Given the description of an element on the screen output the (x, y) to click on. 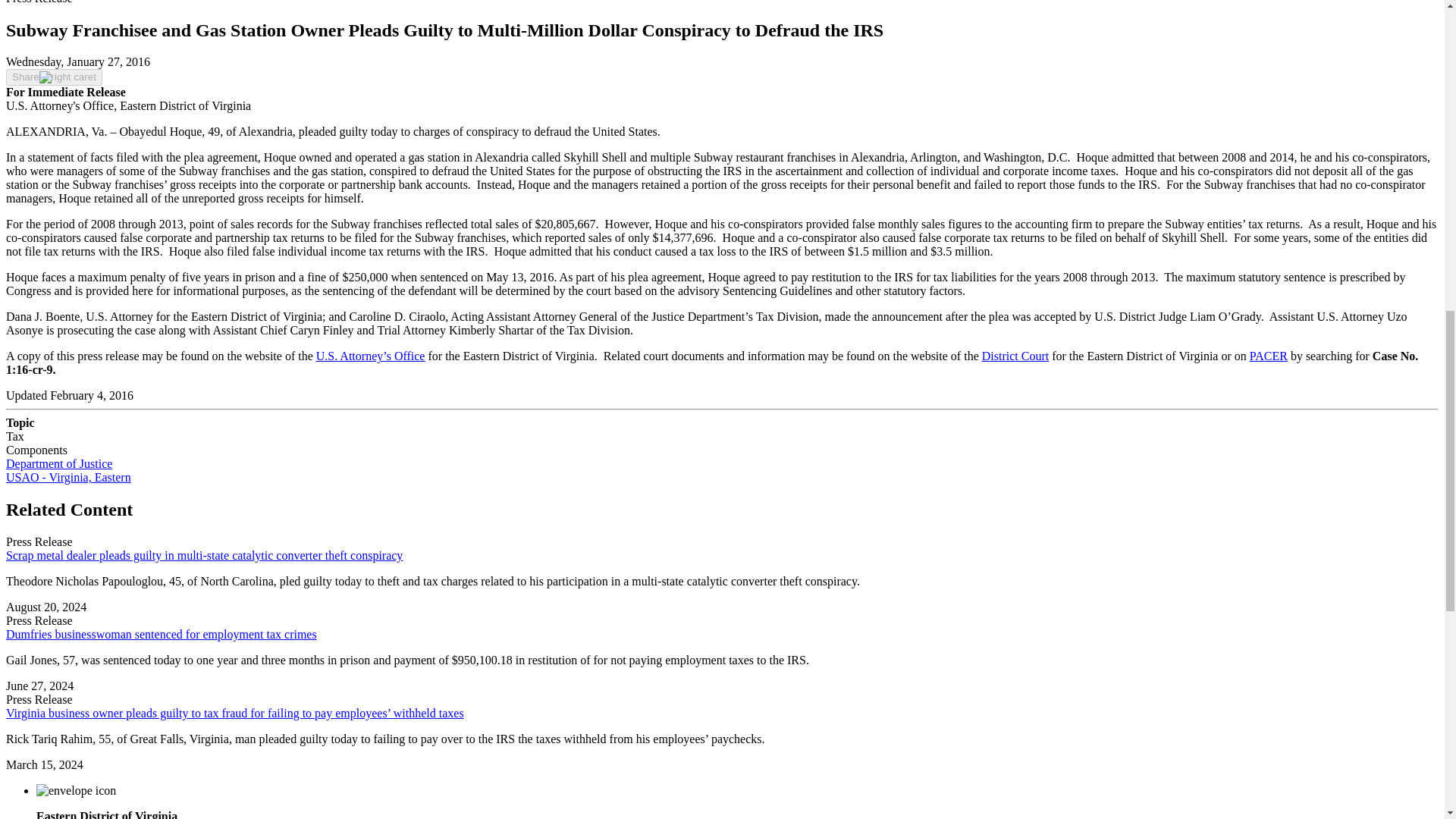
Share (53, 76)
District Court (1014, 355)
PACER (1268, 355)
